Given the description of an element on the screen output the (x, y) to click on. 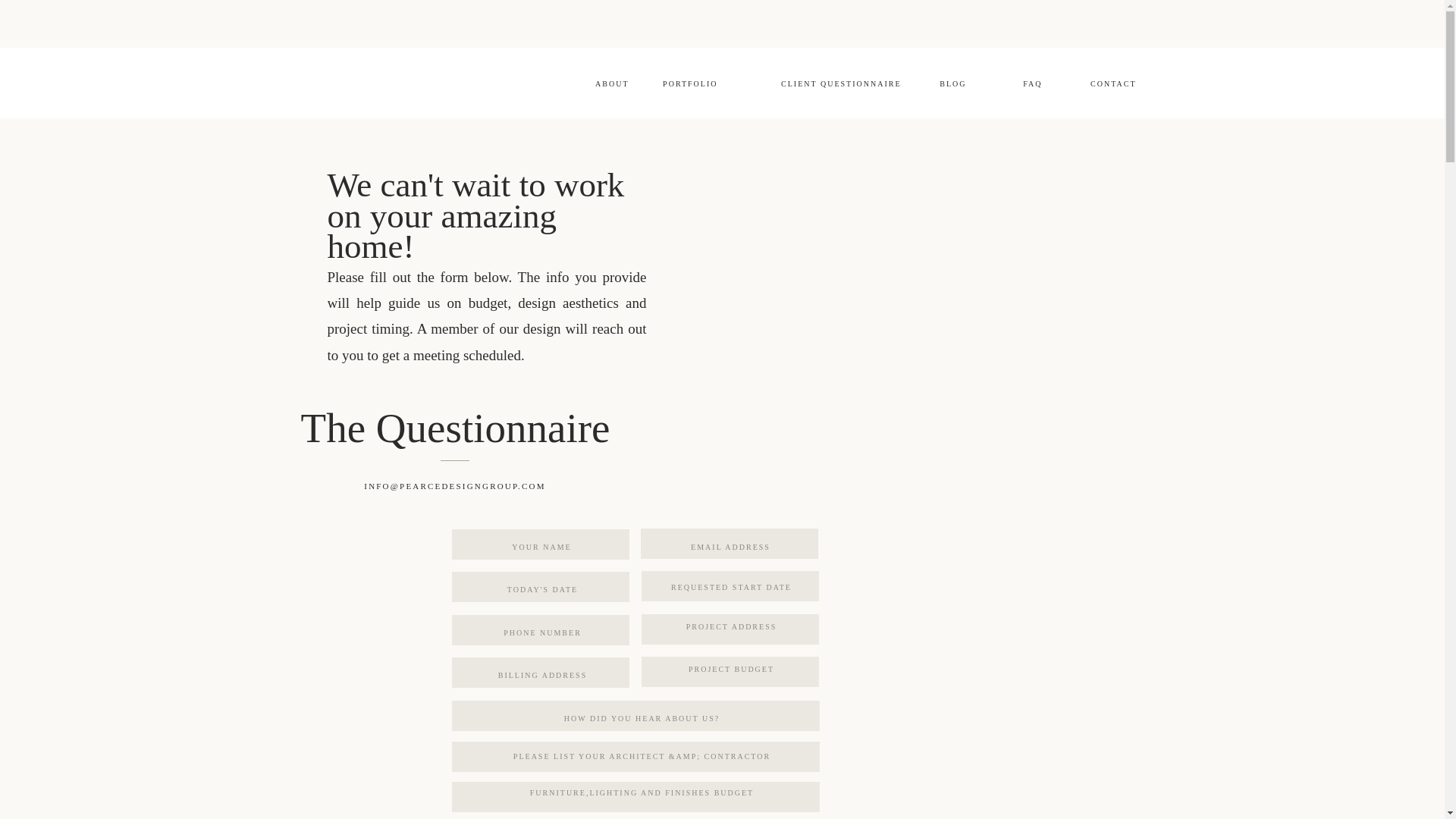
BLOG (946, 82)
CONTACT (1108, 82)
CLIENT QUESTIONNAIRE (825, 82)
FAQ (1022, 82)
PORTFOLIO (686, 82)
ABOUT (601, 82)
